Given the description of an element on the screen output the (x, y) to click on. 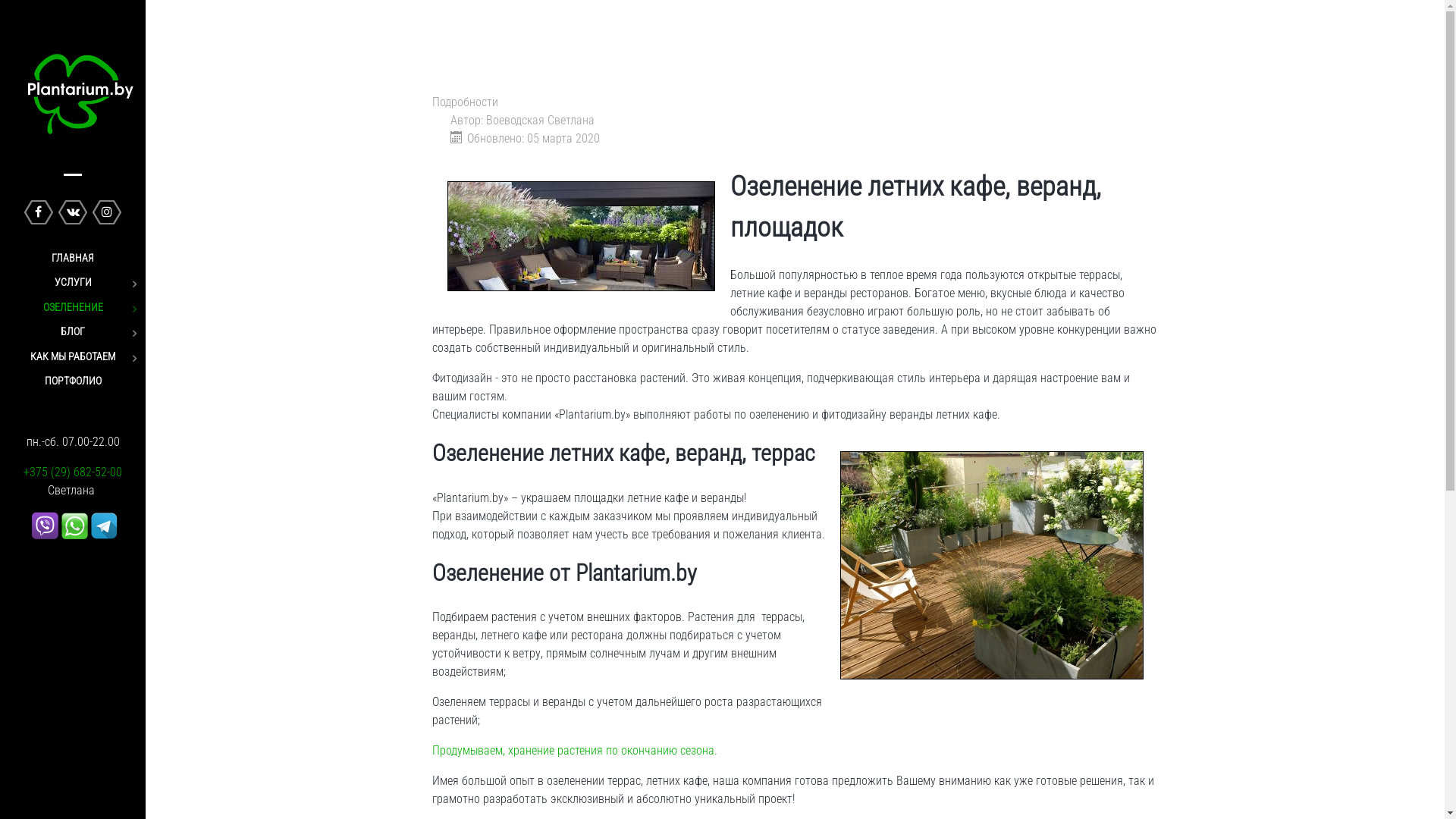
+375 (29) 682-52-00 Element type: text (72, 471)
